Given the description of an element on the screen output the (x, y) to click on. 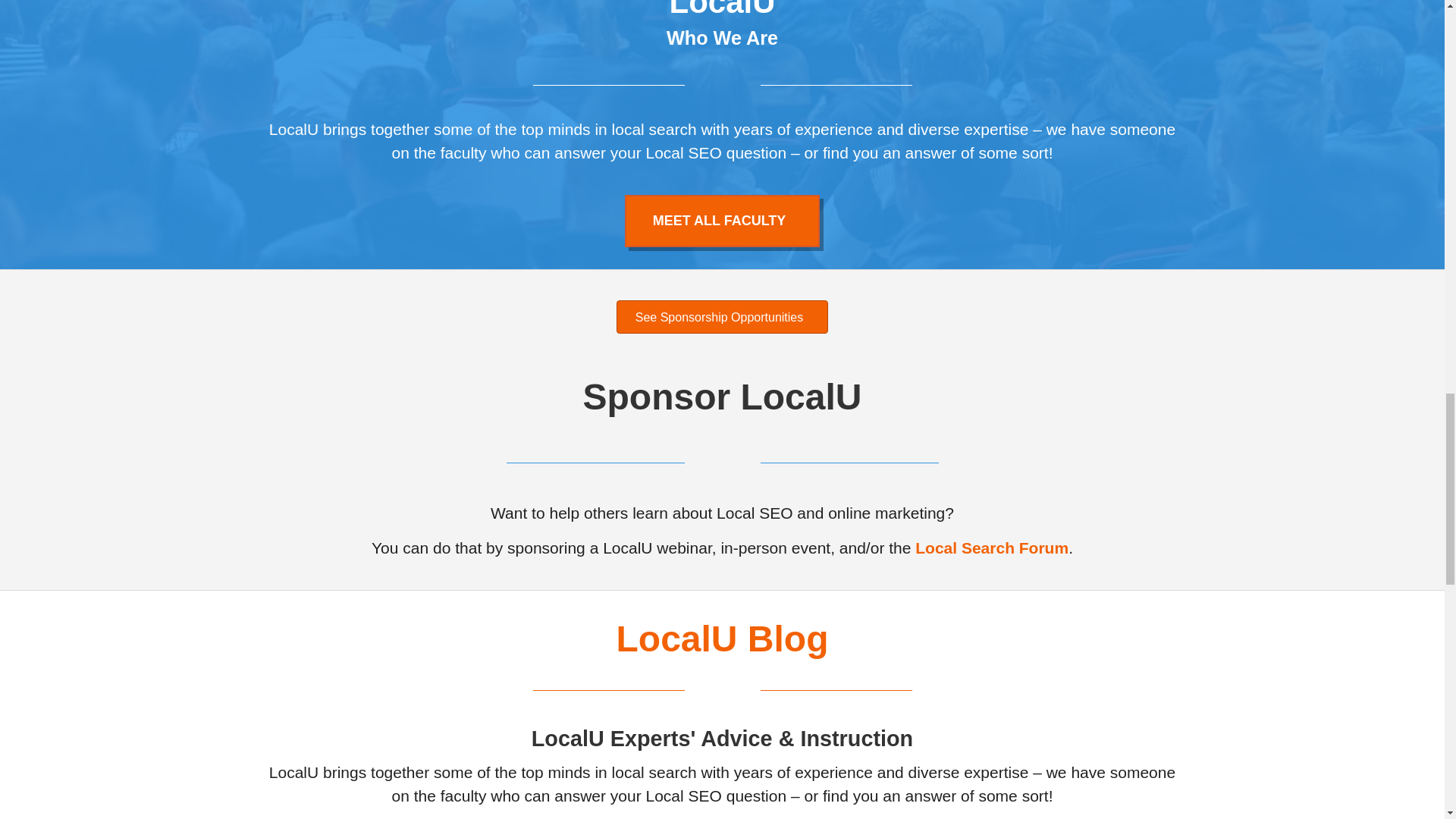
Local Search Forum (991, 547)
See Sponsorship Opportunities (721, 317)
MEET ALL FACULTY (722, 220)
